Given the description of an element on the screen output the (x, y) to click on. 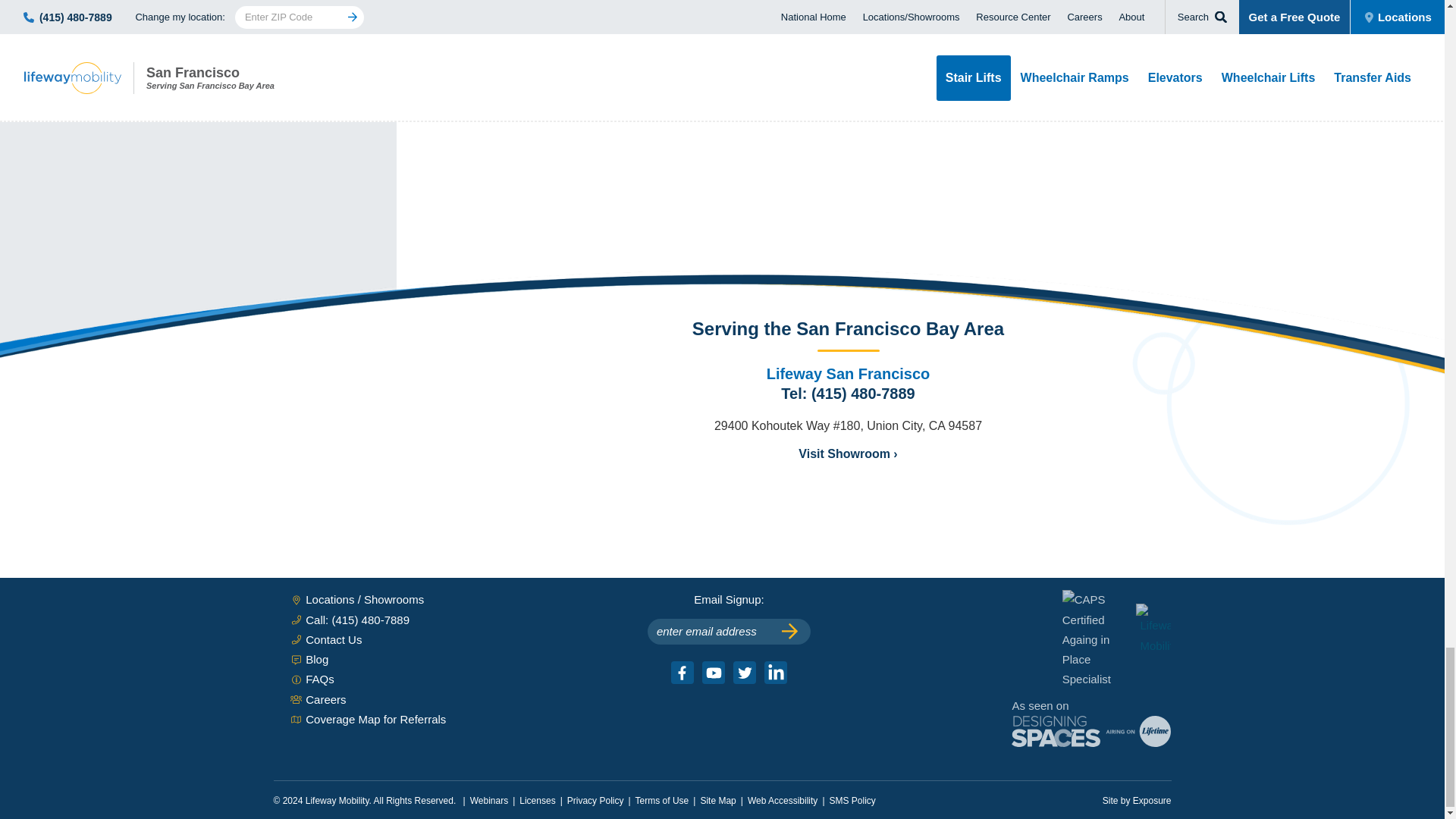
Like Us on Facebook (682, 671)
